Given the description of an element on the screen output the (x, y) to click on. 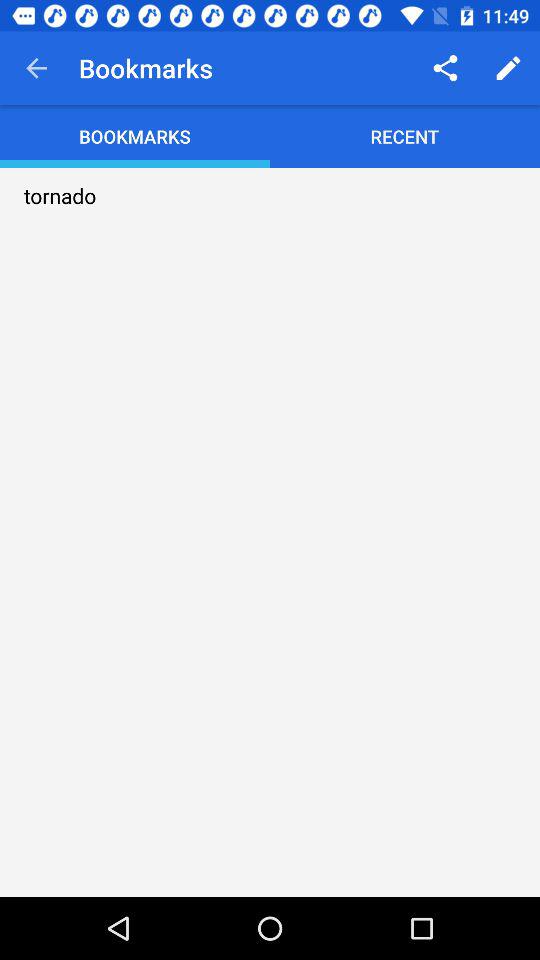
choose tornado icon (59, 195)
